Given the description of an element on the screen output the (x, y) to click on. 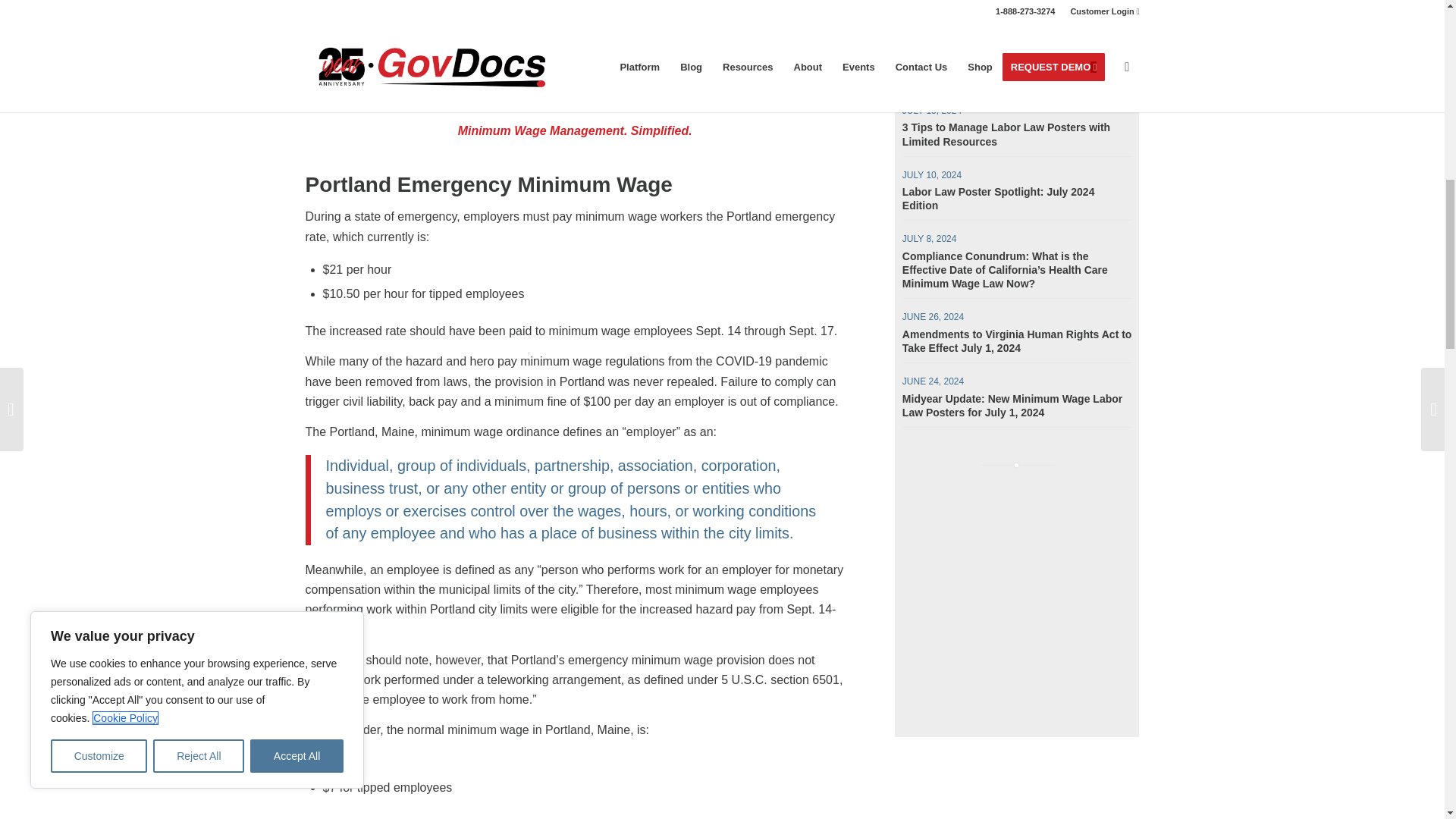
Subscribe (1091, 72)
reCAPTCHA (999, 22)
